Given the description of an element on the screen output the (x, y) to click on. 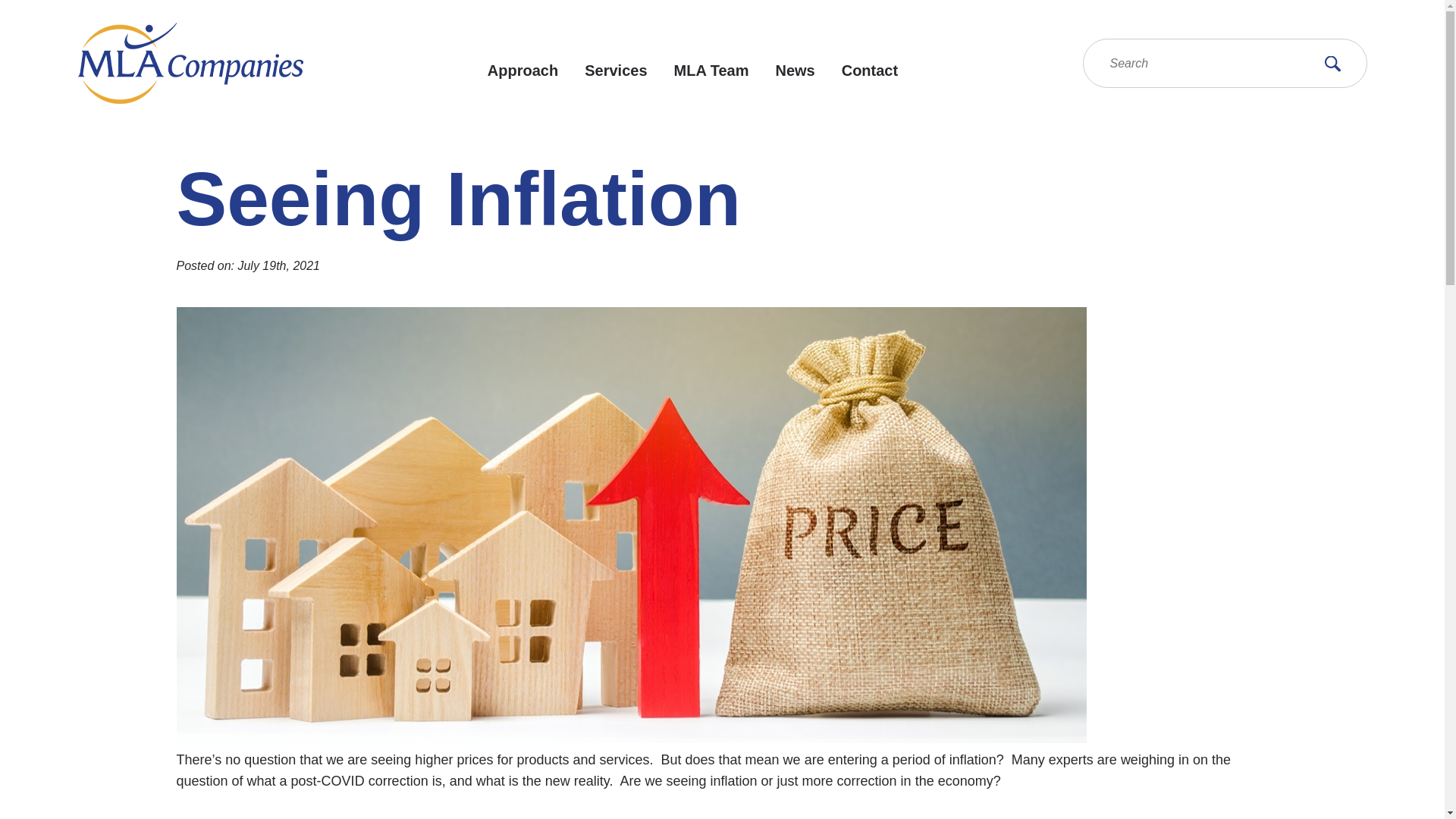
Approach (522, 70)
MLA Team (711, 70)
MLA Companies (189, 63)
Search (1331, 63)
Services (615, 70)
Search (1331, 63)
News (793, 70)
Contact (869, 70)
